Given the description of an element on the screen output the (x, y) to click on. 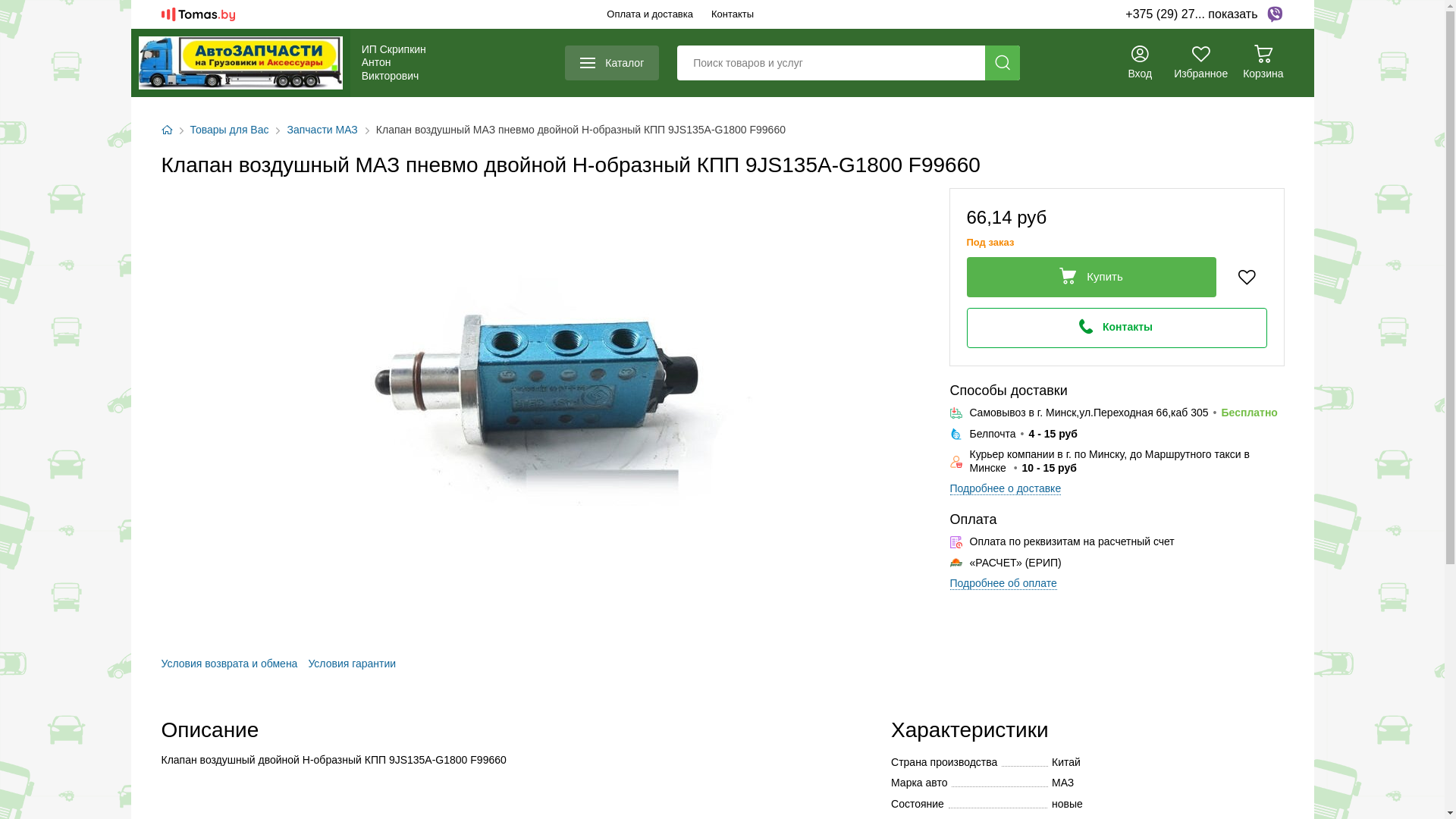
Viber Element type: hover (1273, 14)
